Given the description of an element on the screen output the (x, y) to click on. 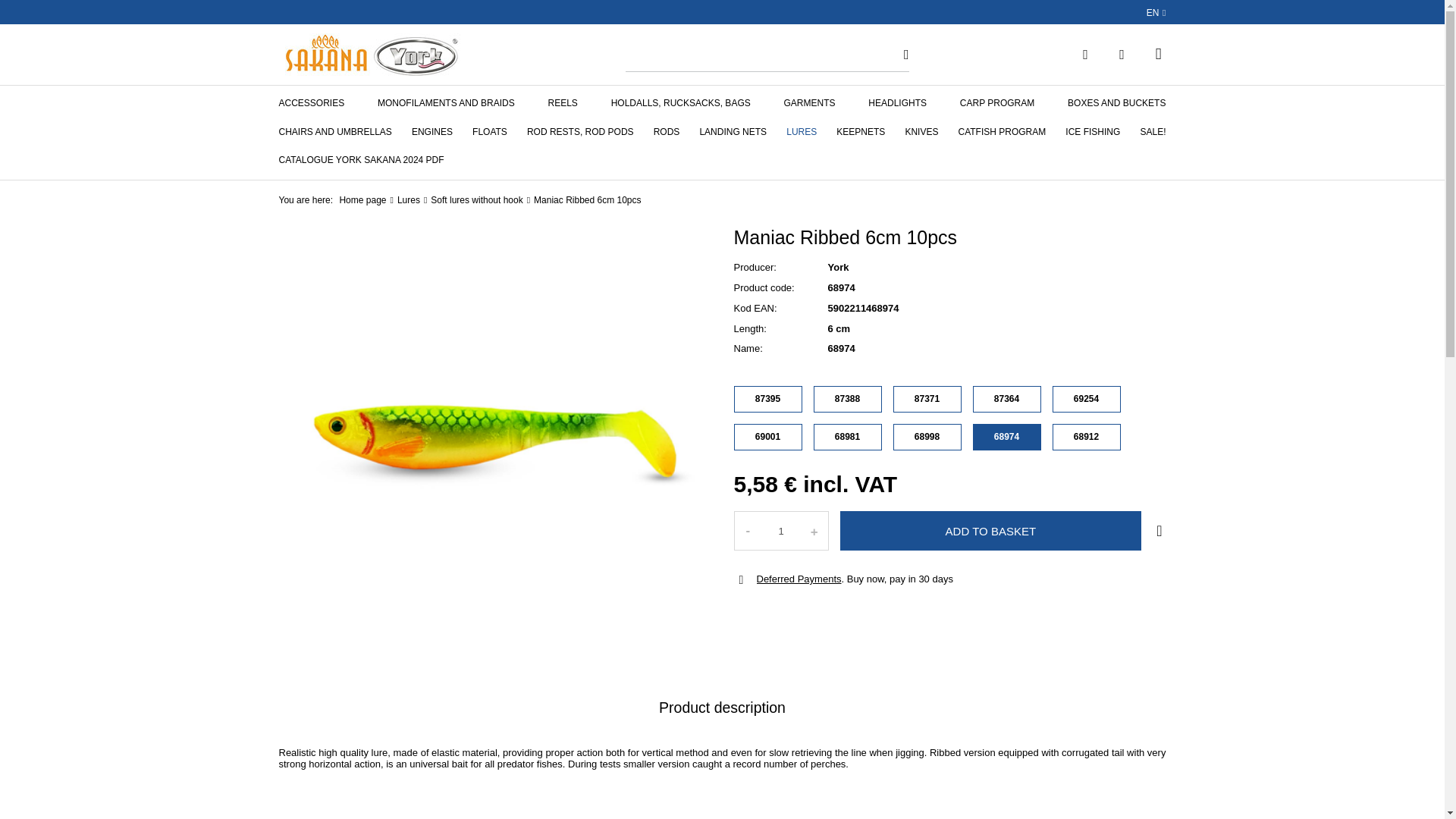
ACCESSORIES (311, 108)
1 (780, 530)
Accessories (311, 108)
